Given the description of an element on the screen output the (x, y) to click on. 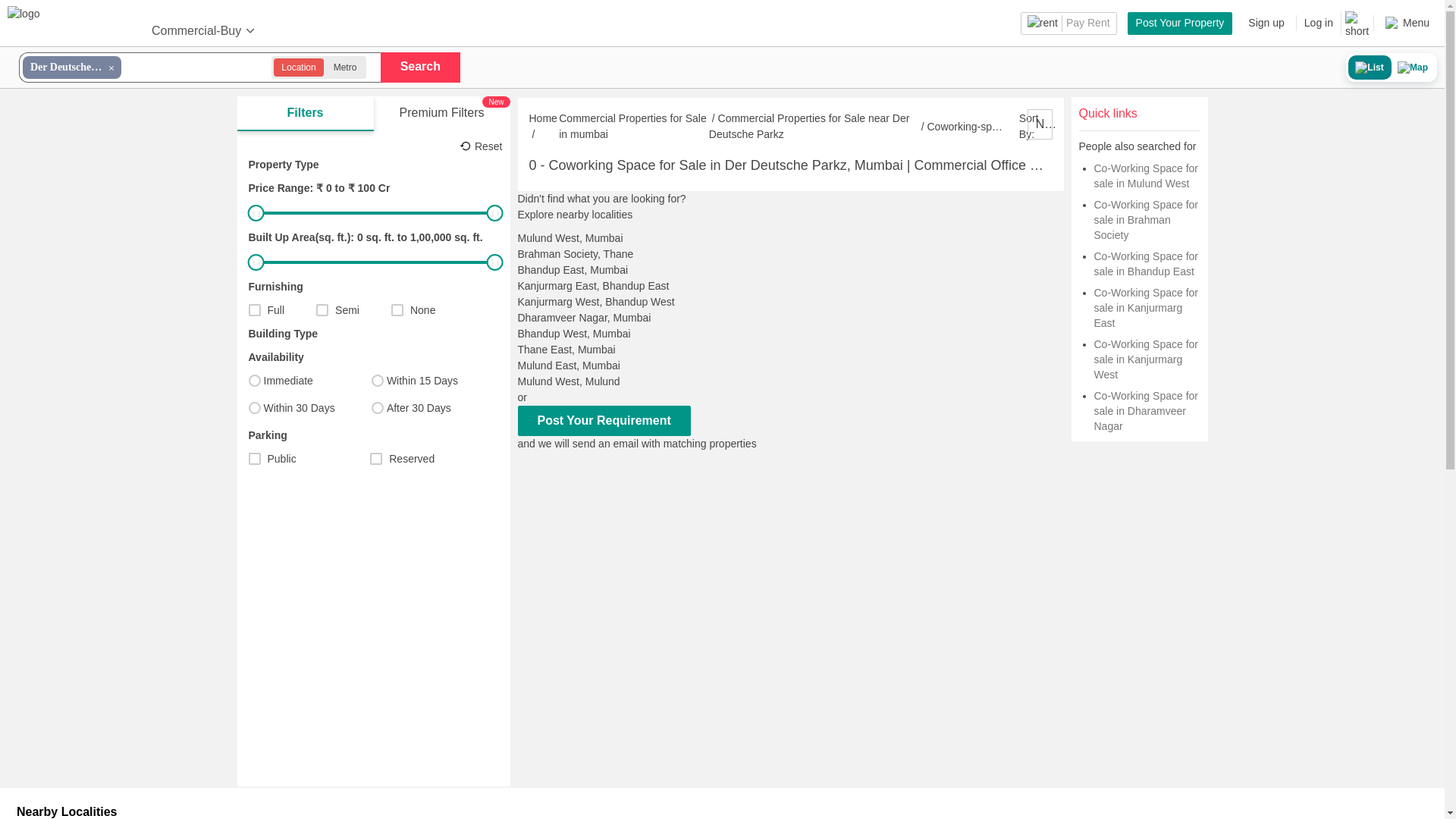
Co-Working Space for sale in Bhandup East (1144, 263)
Home (543, 118)
PUBLIC (254, 458)
Co-Working Space for sale in Kanjurmarg East (1144, 307)
Der Deutsche Parkz (71, 67)
Post Your Requirement (603, 420)
Co-Working Space for sale in Mulund West (1144, 175)
Co-Working Space for sale in Mulund West (1144, 175)
RESERVED (375, 458)
List (1369, 67)
